Given the description of an element on the screen output the (x, y) to click on. 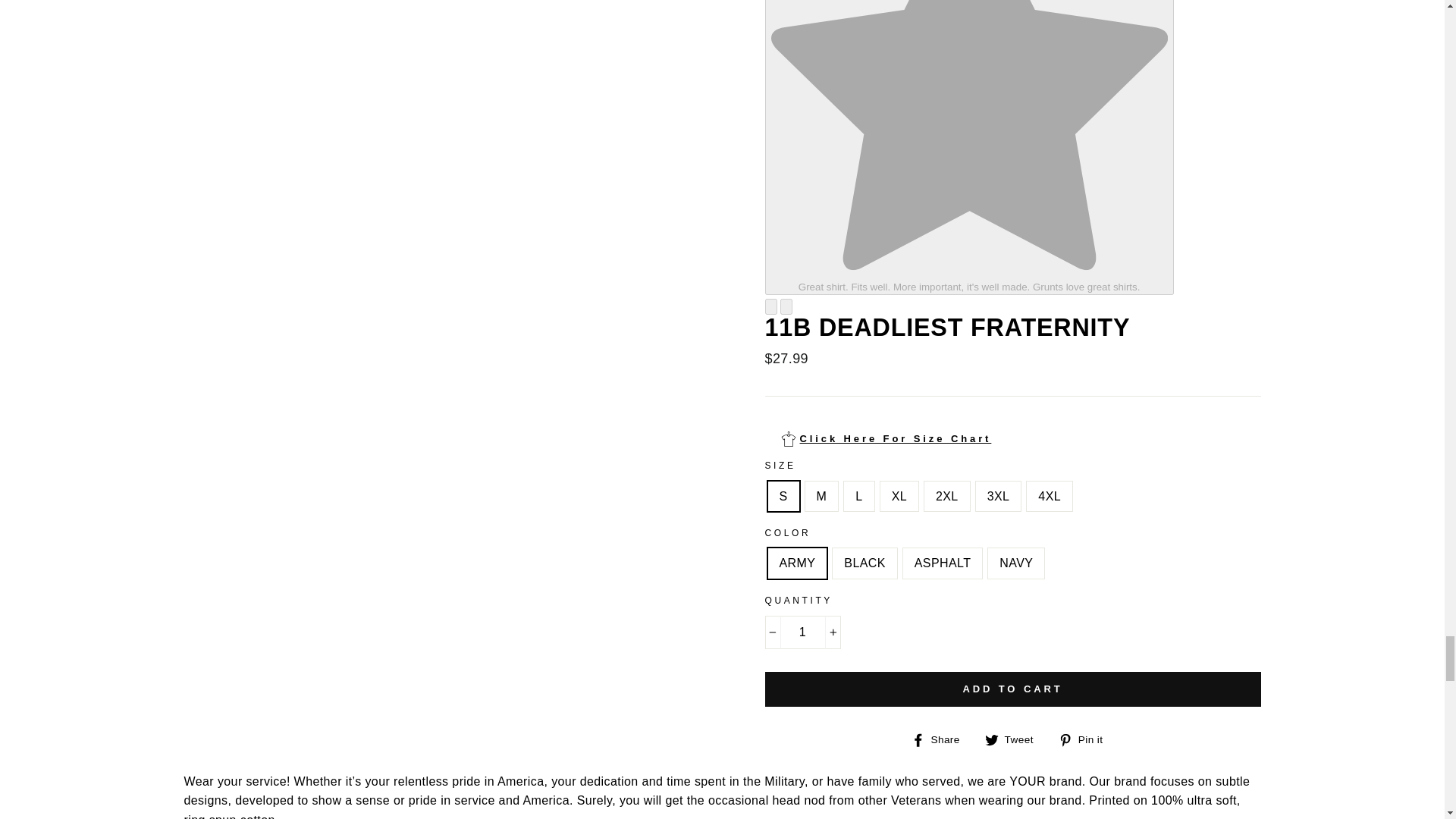
Tweet on Twitter (1015, 739)
Pin on Pinterest (1085, 739)
1 (802, 632)
Share on Facebook (941, 739)
